Given the description of an element on the screen output the (x, y) to click on. 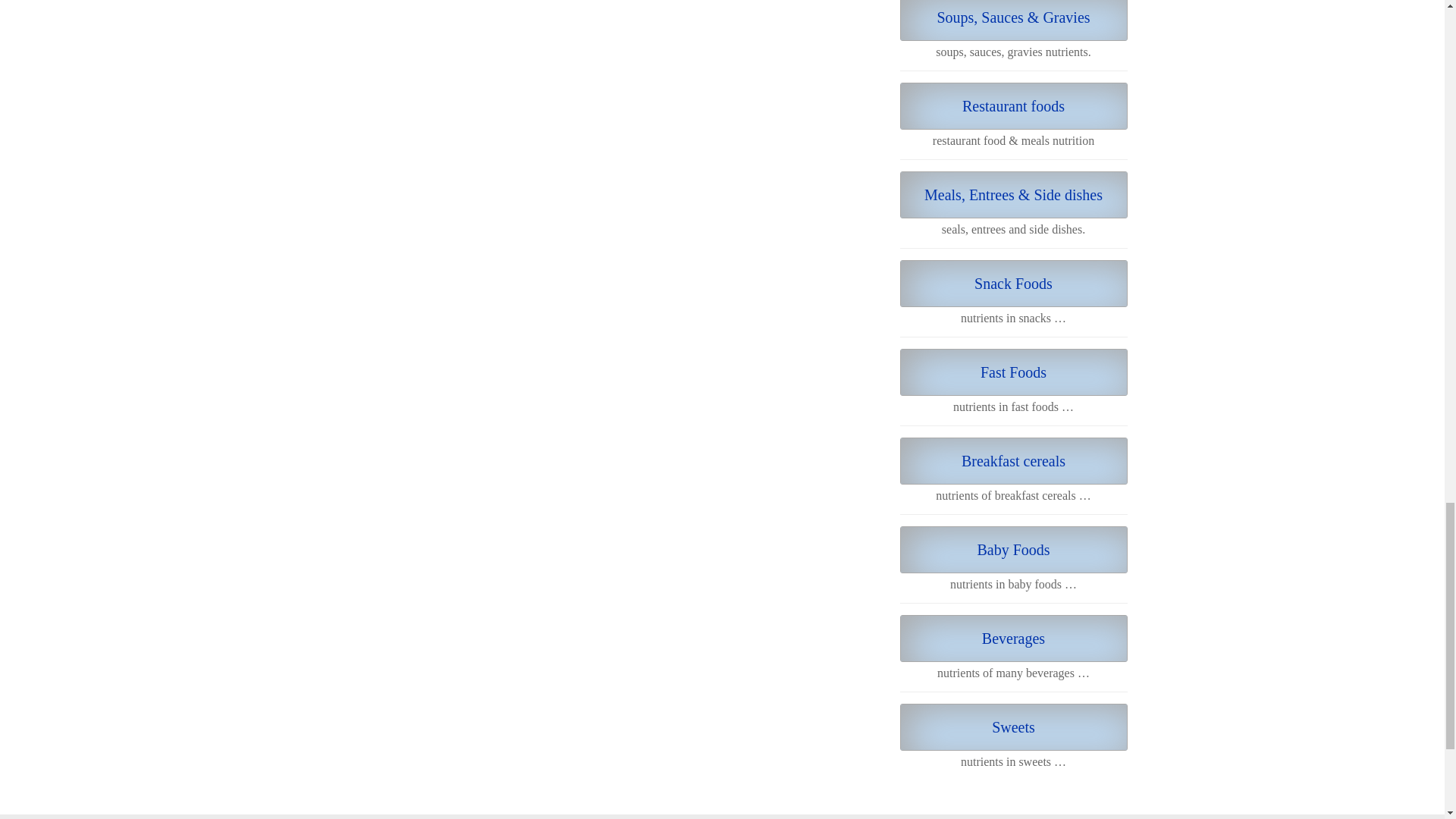
Restaurant foods (1012, 105)
